Given the description of an element on the screen output the (x, y) to click on. 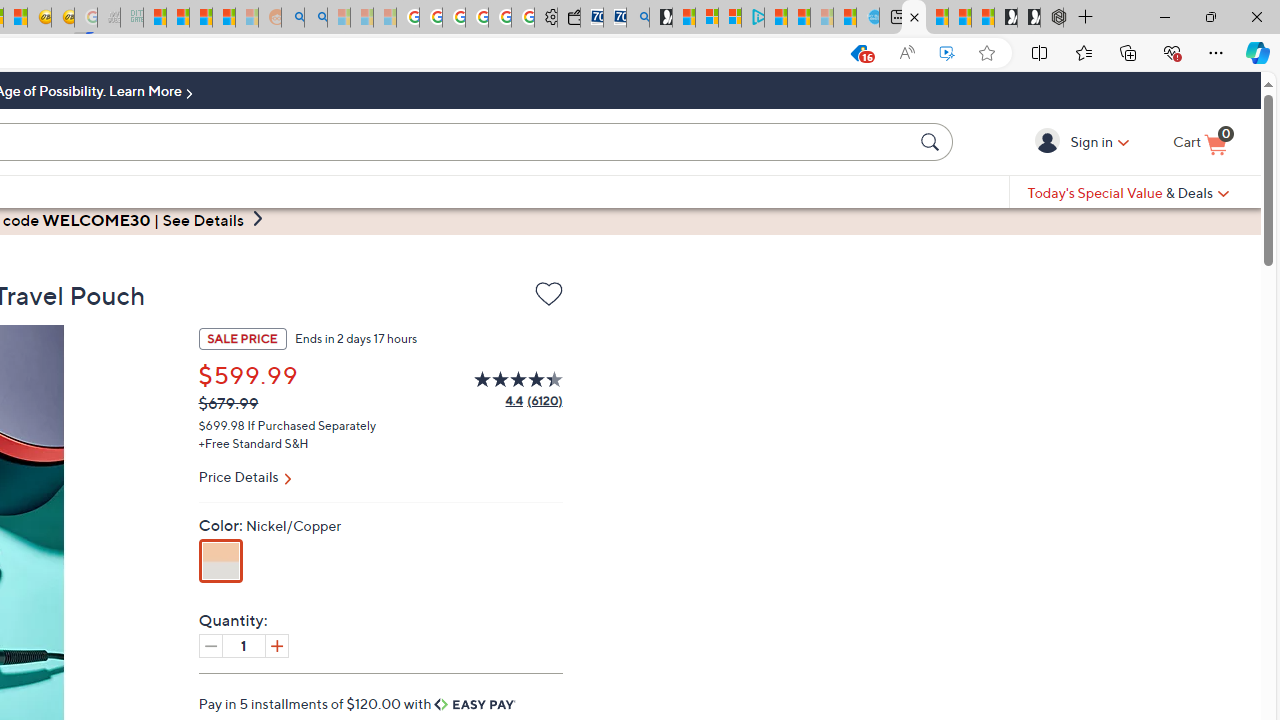
Enhance video (946, 53)
Student Loan Update: Forgiveness Program Ends This Month (223, 17)
Bing Real Estate - Home sales and rental listings (637, 17)
Price Details (380, 479)
Microsoft account | Privacy (730, 17)
Navy Quest (109, 17)
